Given the description of an element on the screen output the (x, y) to click on. 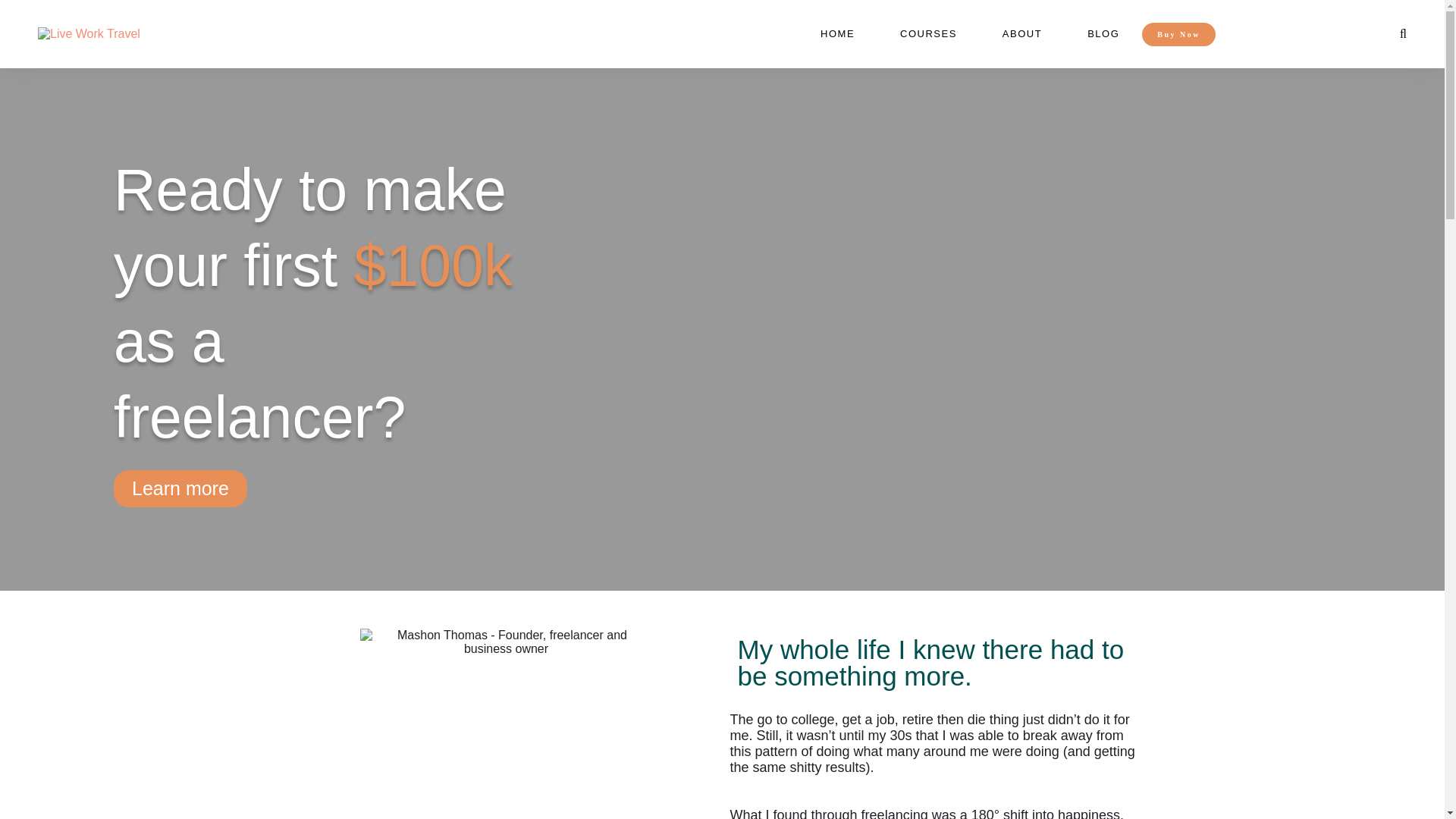
Learn more (180, 488)
Buy Now (1178, 33)
COURSES (927, 33)
